Given the description of an element on the screen output the (x, y) to click on. 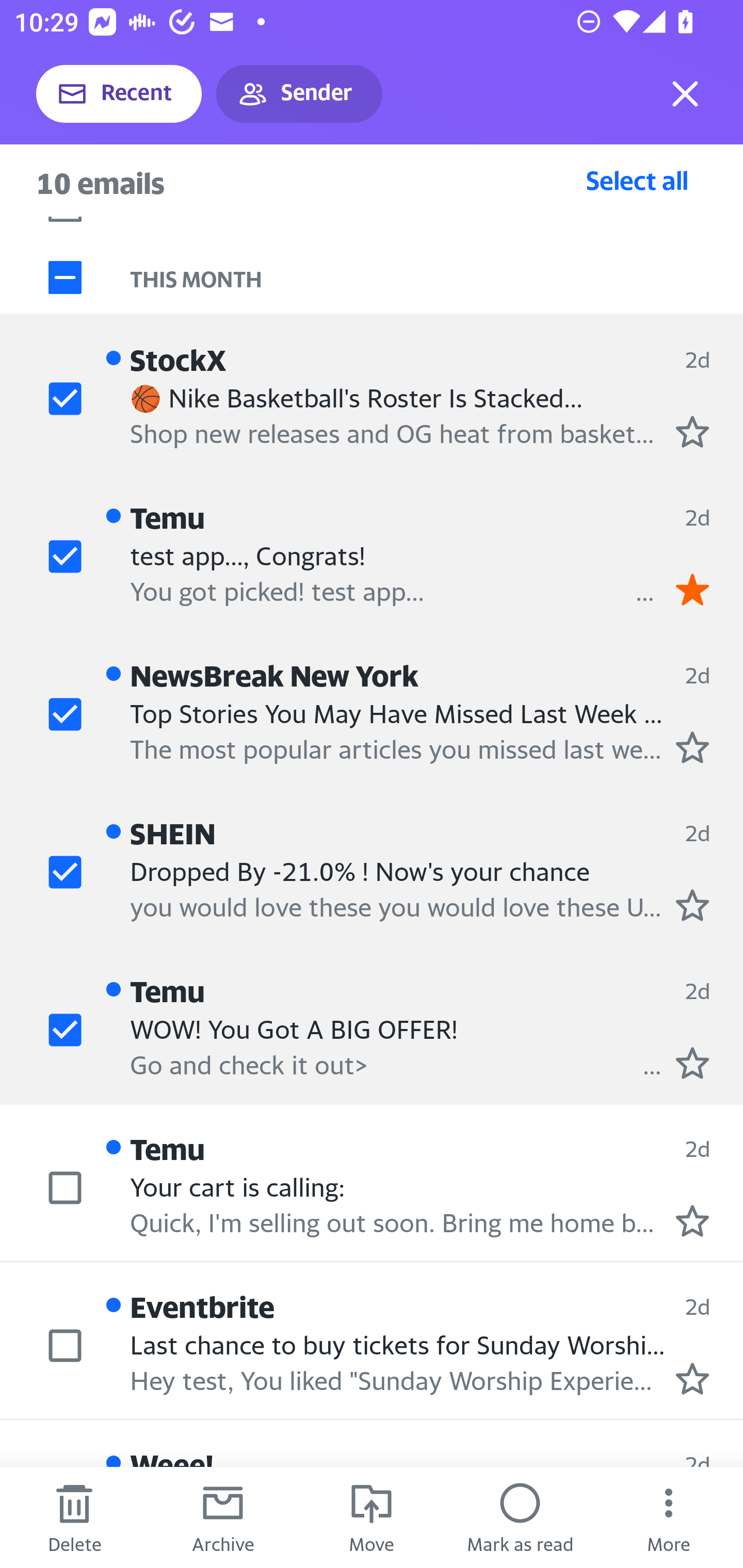
Sender (299, 93)
Exit selection mode (684, 93)
Select all (637, 180)
THIS MONTH (436, 276)
Mark as starred. (692, 431)
Remove star. (692, 589)
Mark as starred. (692, 747)
Mark as starred. (692, 905)
Mark as starred. (692, 1062)
Mark as starred. (692, 1220)
Mark as starred. (692, 1379)
Delete (74, 1517)
Archive (222, 1517)
Move (371, 1517)
Mark as read (519, 1517)
More (668, 1517)
